Given the description of an element on the screen output the (x, y) to click on. 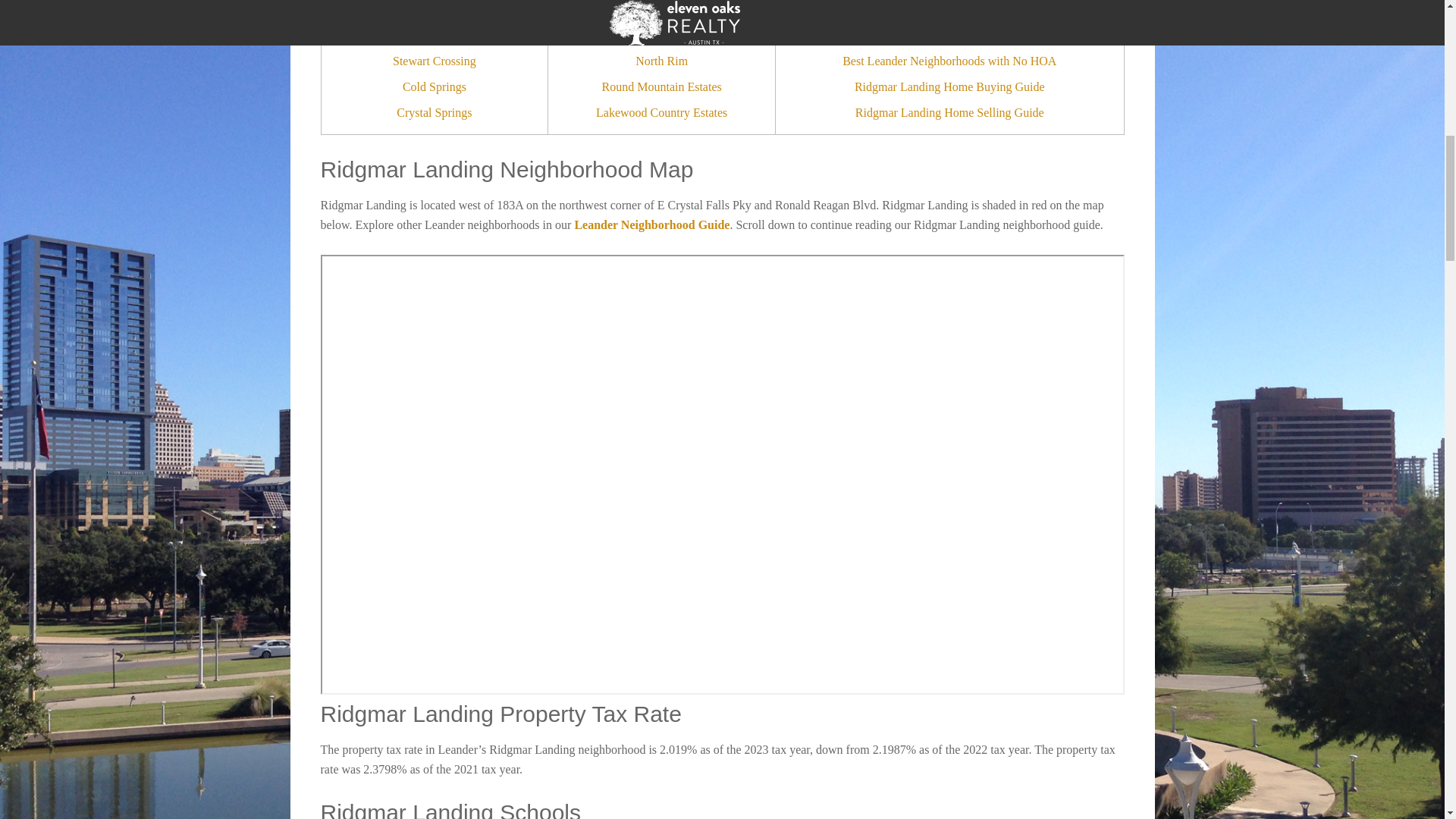
Lakewood Country Estates (660, 112)
Cold Springs (434, 86)
Crystal Springs (433, 112)
Marbella (434, 35)
North Rim (660, 61)
Leander Neighborhood Guide (949, 9)
Ridgmar Landing Home Selling Guide (949, 112)
Trails End (661, 35)
Best Leander Neighborhoods with No HOA (950, 61)
Sarita Valley (434, 9)
Cedar Park Neighborhood Guide (949, 35)
Round Mountain Estates (662, 86)
Stonehurst (660, 9)
Leander Neighborhood Guide (651, 224)
Stewart Crossing (434, 61)
